Given the description of an element on the screen output the (x, y) to click on. 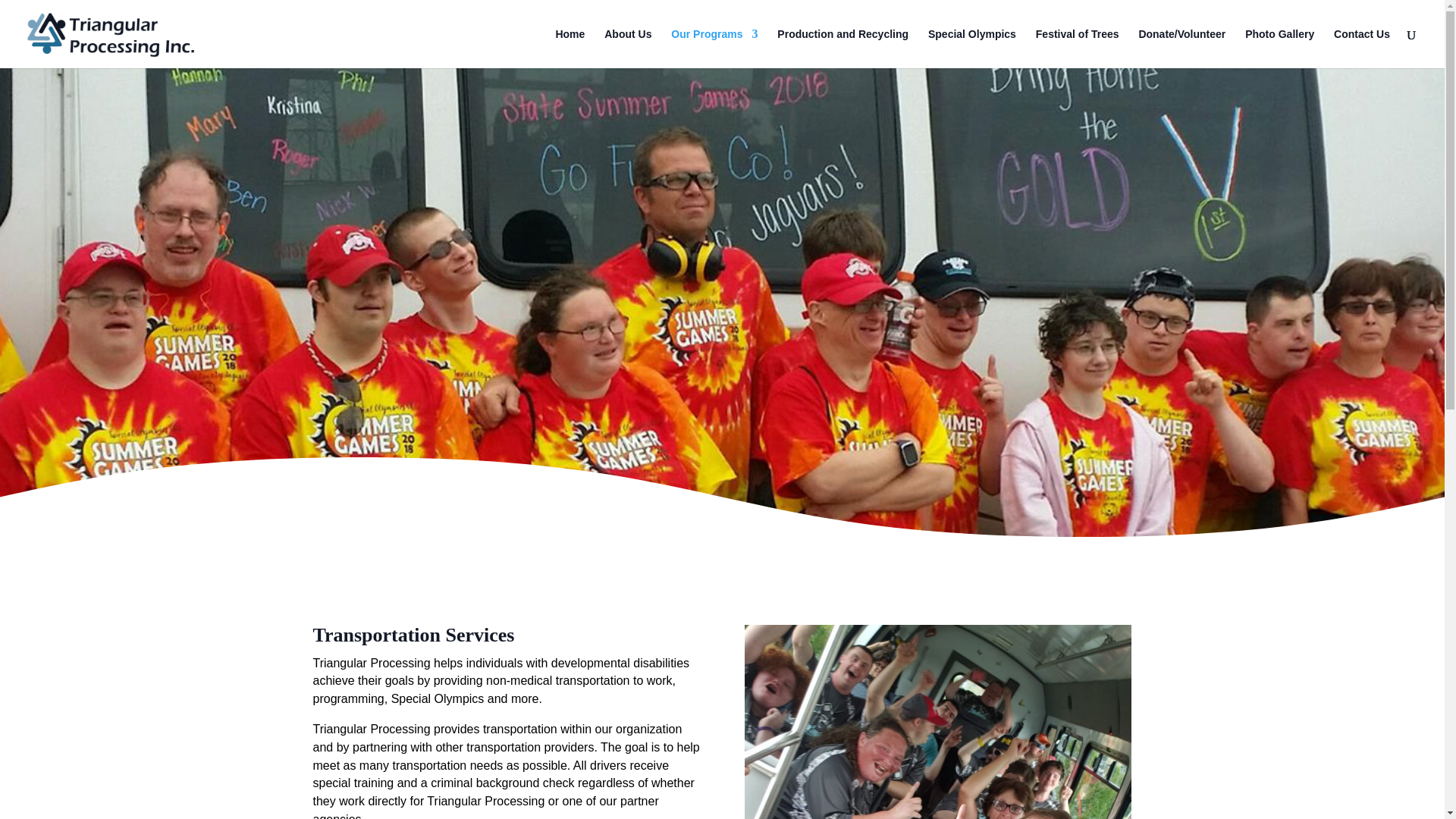
Contact Us (1361, 47)
Our Programs (714, 47)
Production and Recycling (842, 47)
Festival of Trees (1077, 47)
Special Olympics (972, 47)
Photo Gallery (1279, 47)
About Us (627, 47)
